Given the description of an element on the screen output the (x, y) to click on. 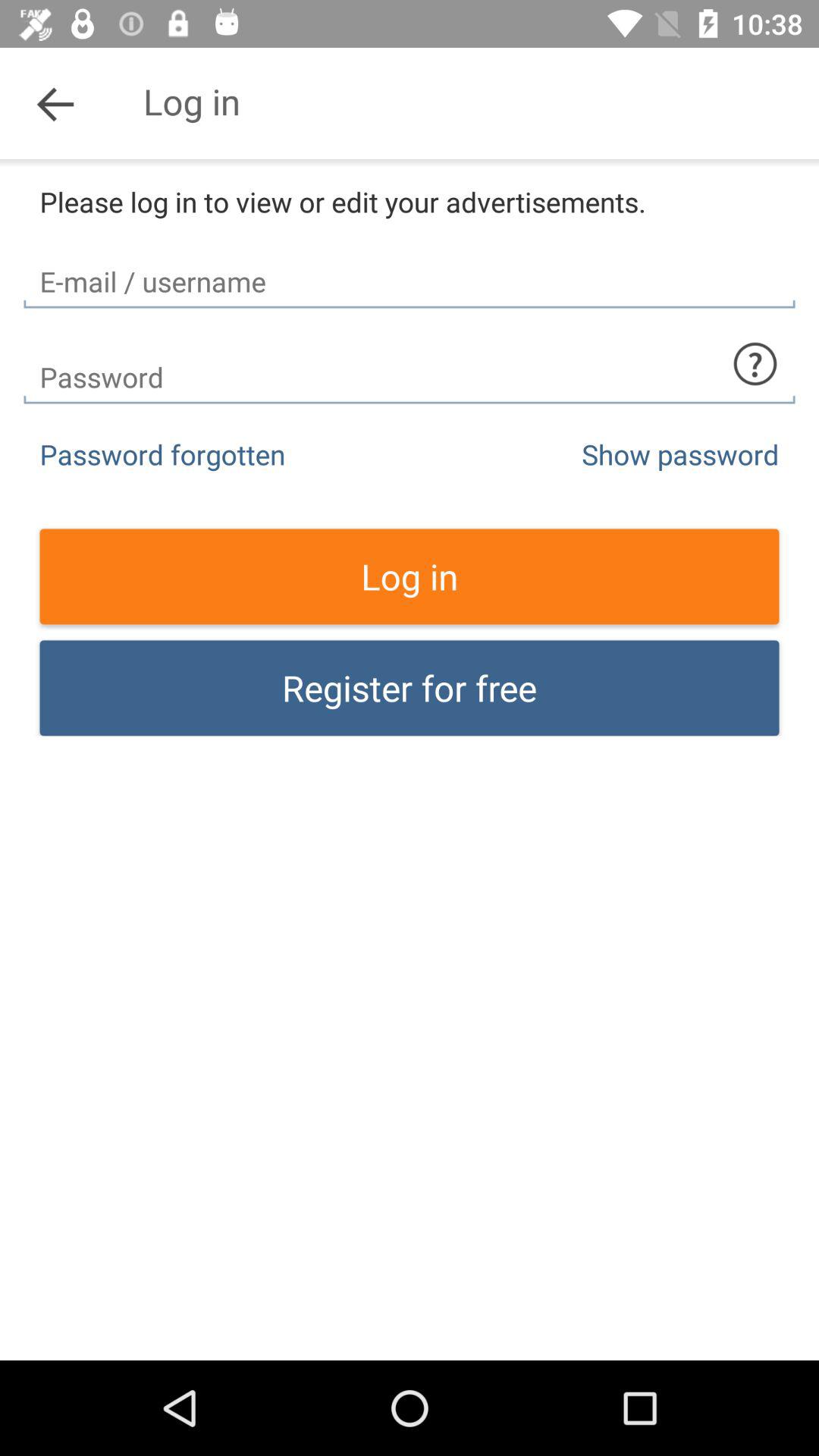
open the show password item (680, 454)
